Given the description of an element on the screen output the (x, y) to click on. 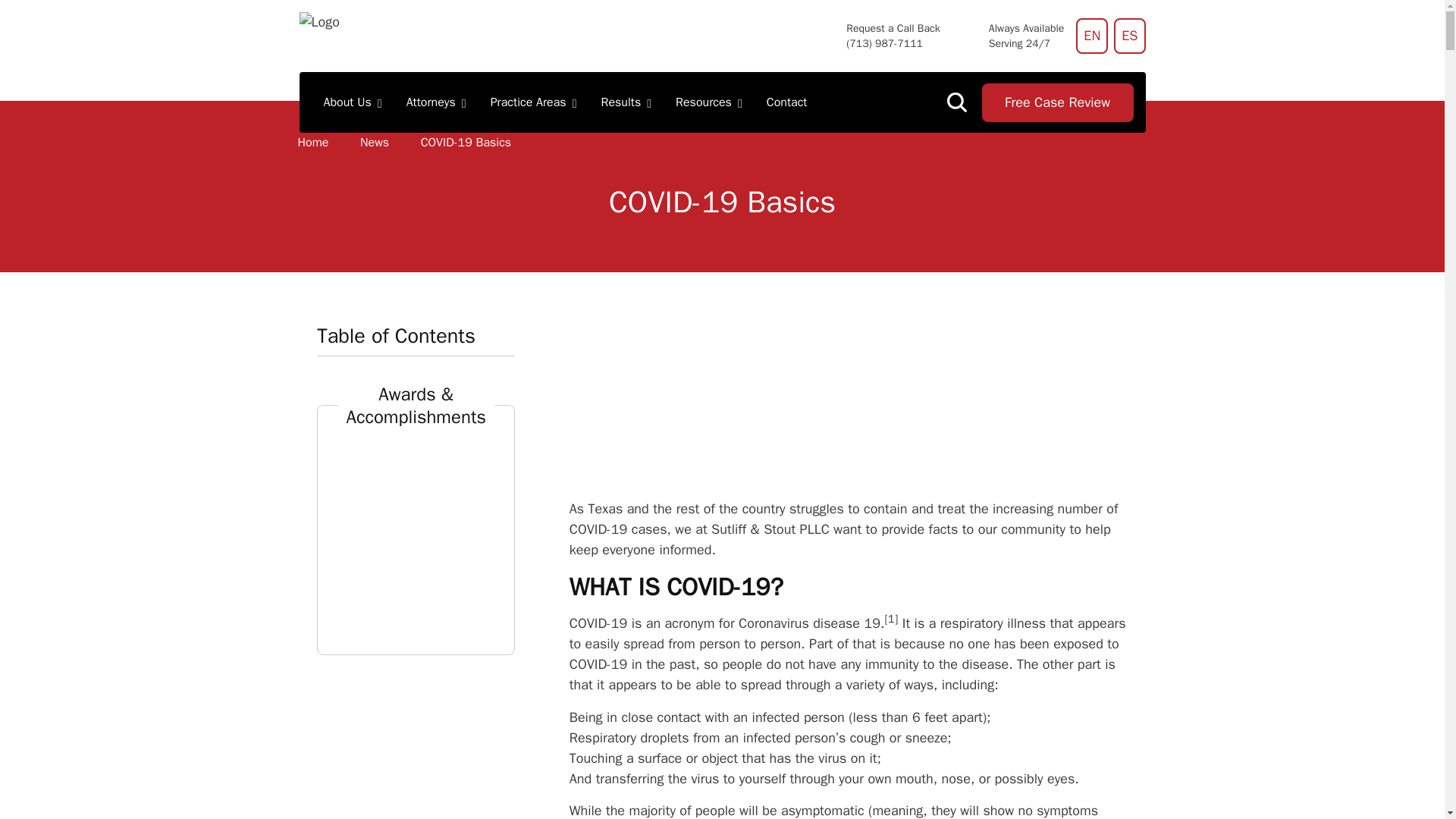
Practice Areas (534, 102)
Attorneys (436, 102)
EN (1091, 36)
About Us (352, 102)
